Given the description of an element on the screen output the (x, y) to click on. 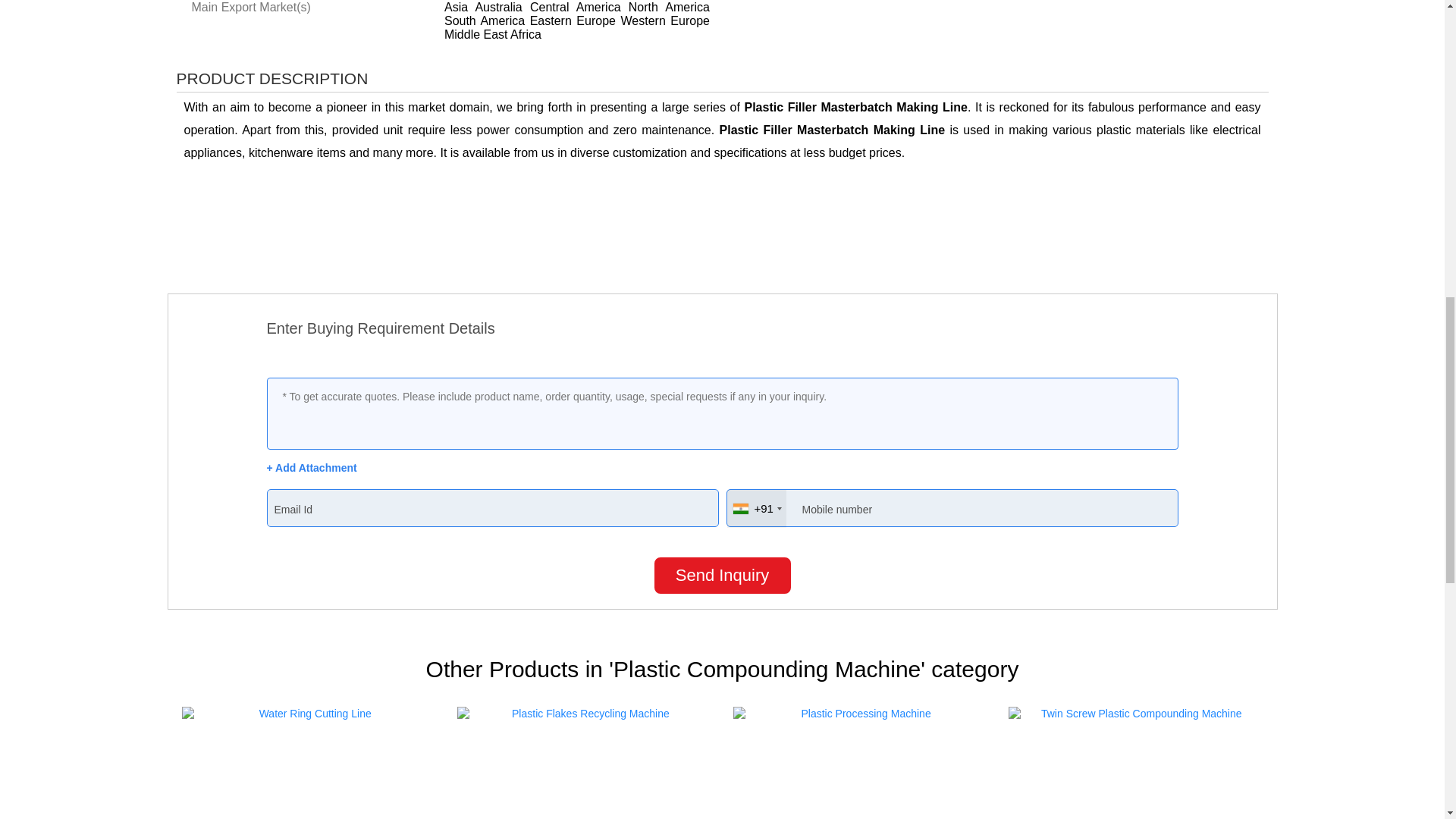
Send Inquiry (721, 575)
